Given the description of an element on the screen output the (x, y) to click on. 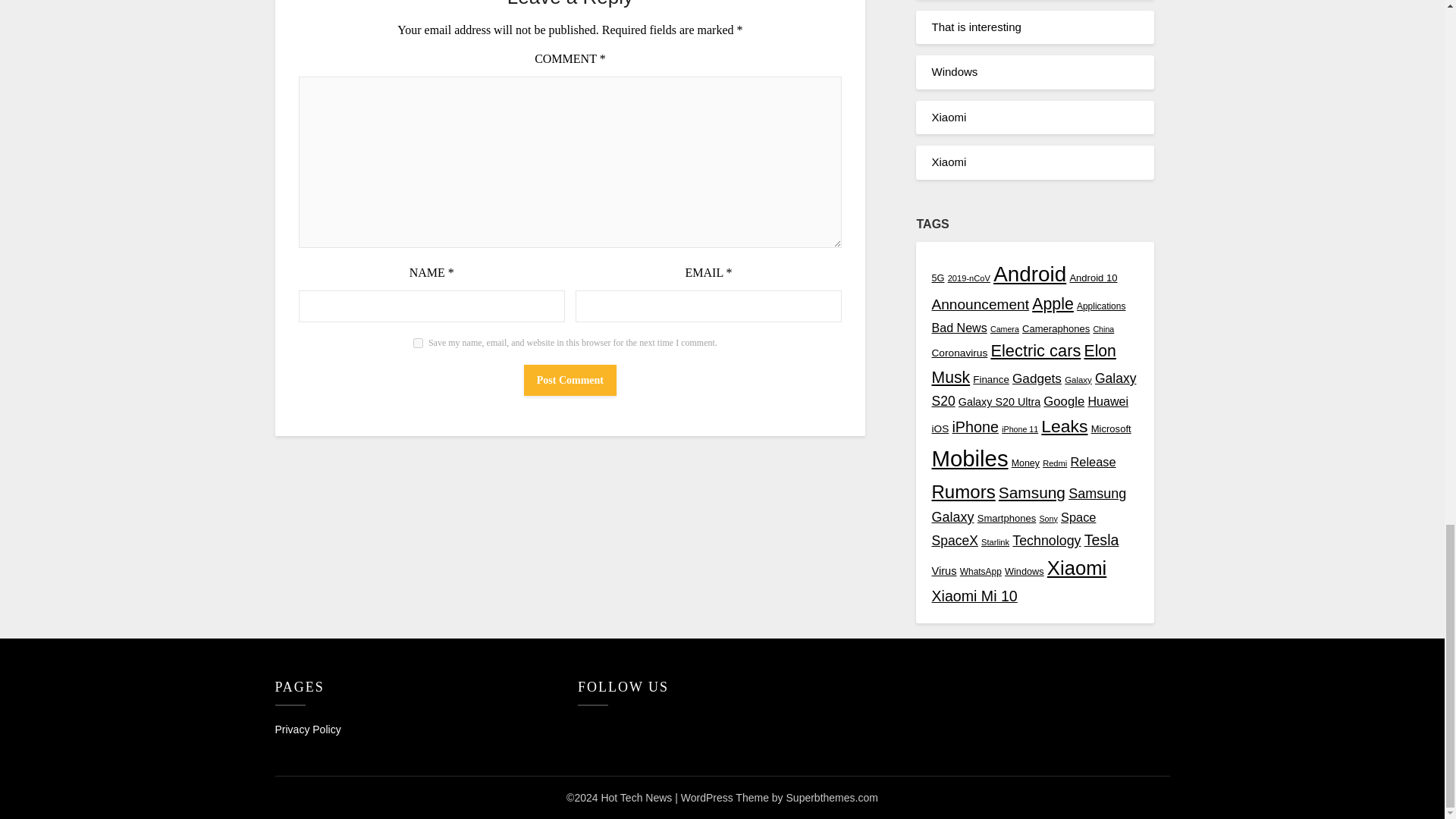
Post Comment (569, 379)
yes (418, 343)
Post Comment (569, 379)
